Given the description of an element on the screen output the (x, y) to click on. 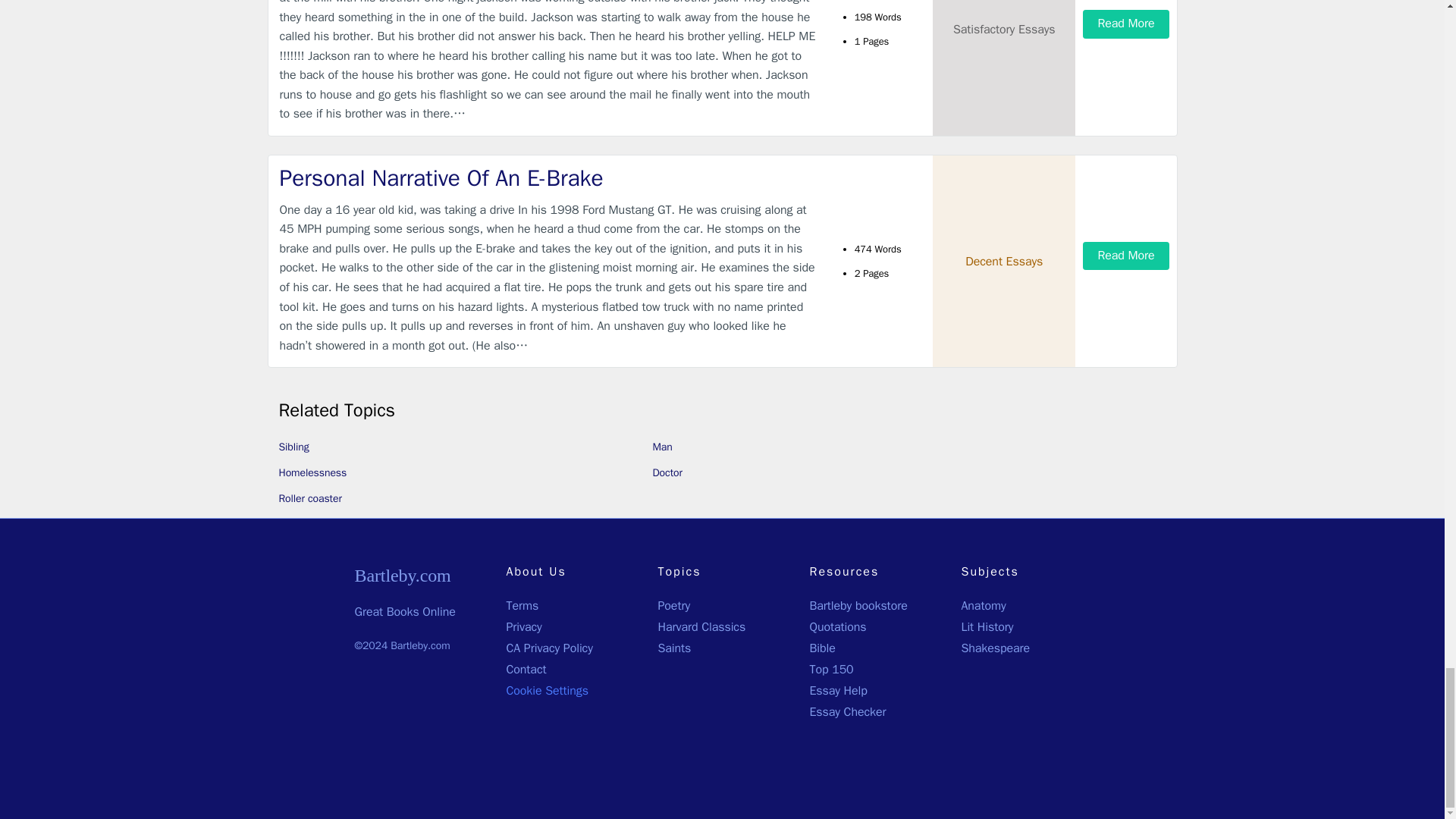
Man (661, 446)
Homelessness (313, 472)
Sibling (293, 446)
Roller coaster (310, 498)
Doctor (666, 472)
